Given the description of an element on the screen output the (x, y) to click on. 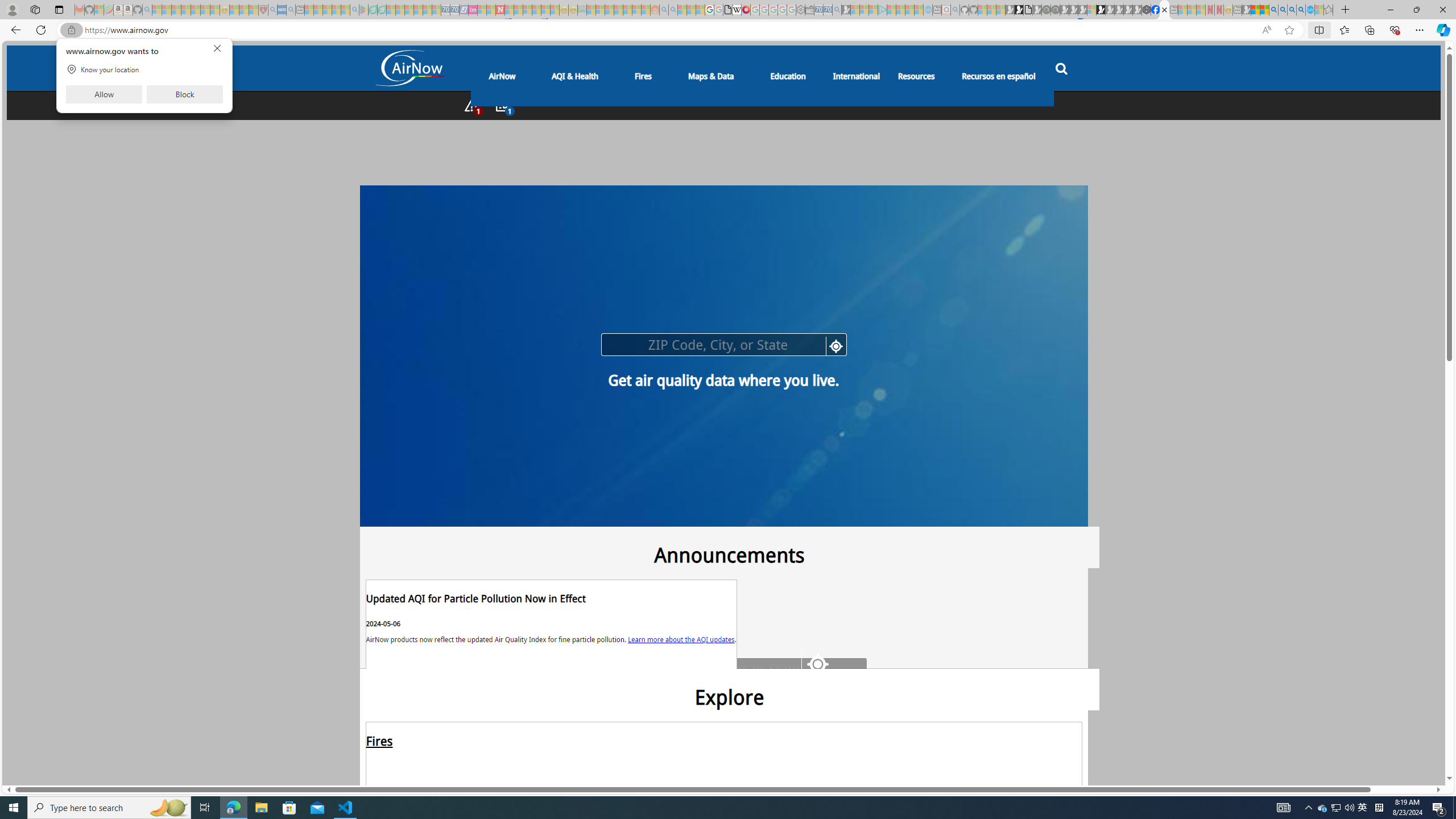
AutomationID: nav-announcements-toggle (502, 105)
PARTNERS (456, 554)
